Given the description of an element on the screen output the (x, y) to click on. 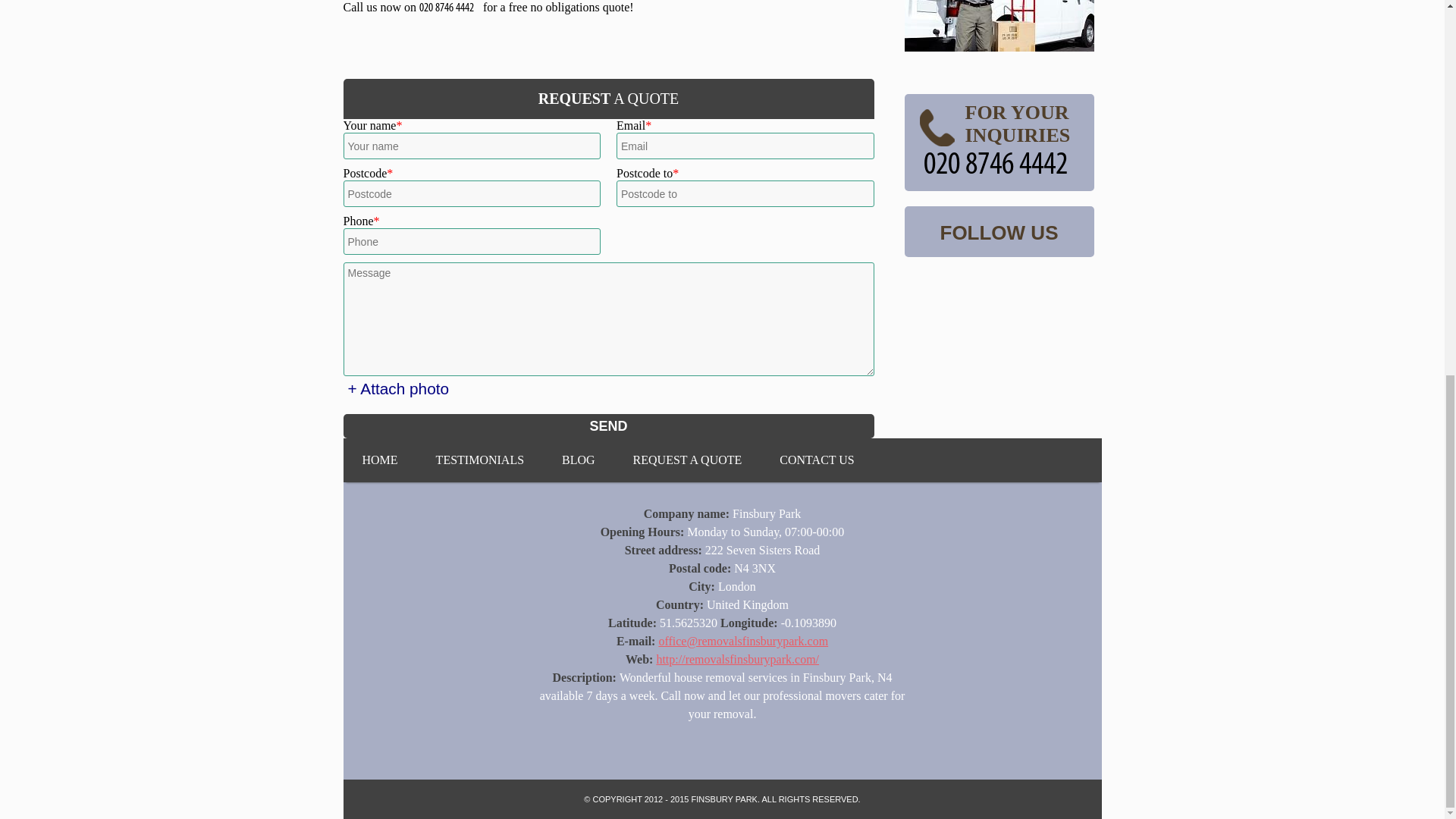
BLOG (577, 459)
REQUEST A QUOTE (686, 459)
TESTIMONIALS (479, 459)
CONTACT US (816, 459)
Call Now! (449, 6)
Call Now! (999, 165)
SEND (607, 426)
Send E-mail (743, 640)
HOME (379, 459)
